Given the description of an element on the screen output the (x, y) to click on. 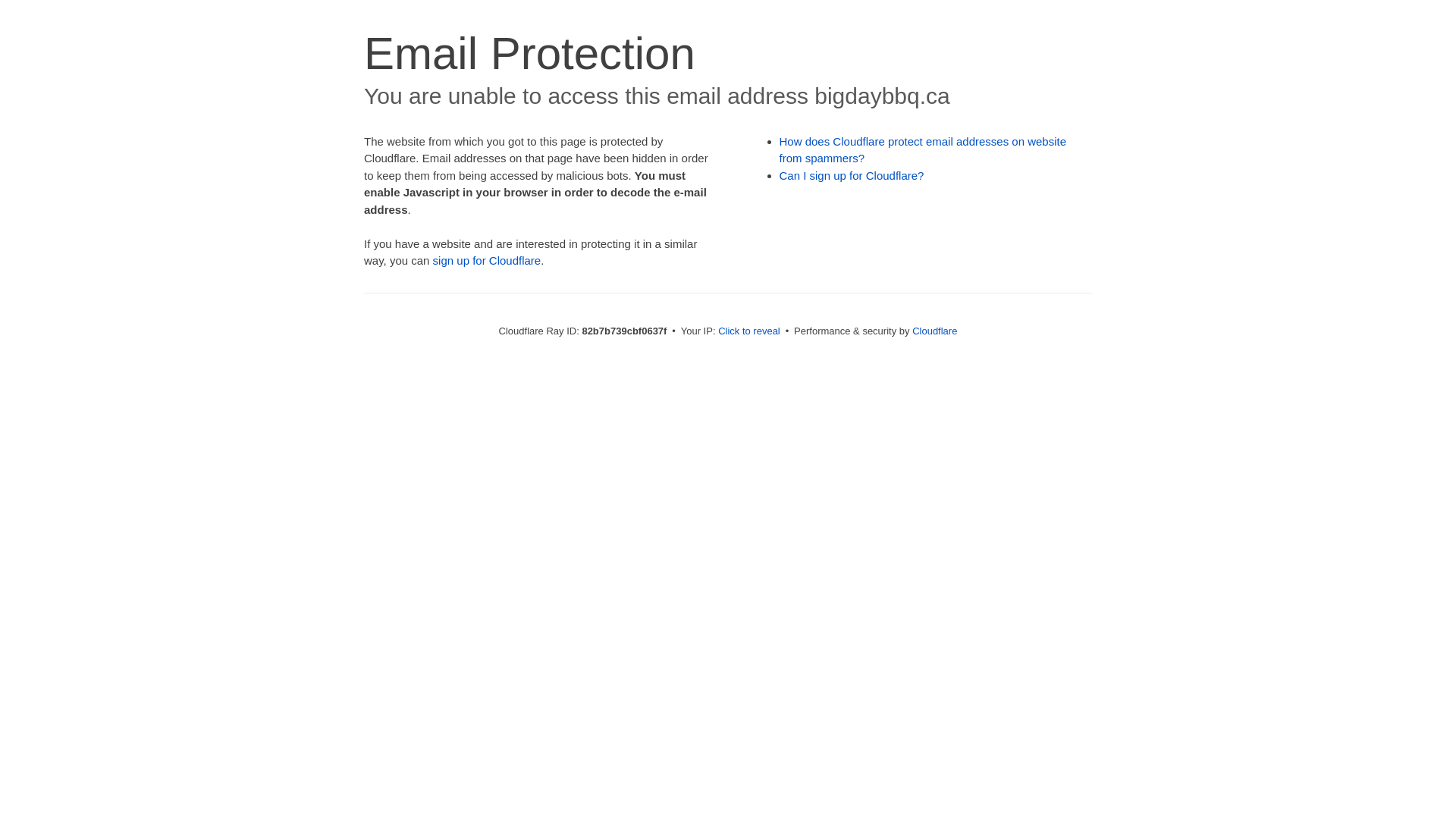
sign up for Cloudflare Element type: text (487, 260)
Cloudflare Element type: text (934, 330)
Can I sign up for Cloudflare? Element type: text (851, 175)
Click to reveal Element type: text (749, 330)
